Given the description of an element on the screen output the (x, y) to click on. 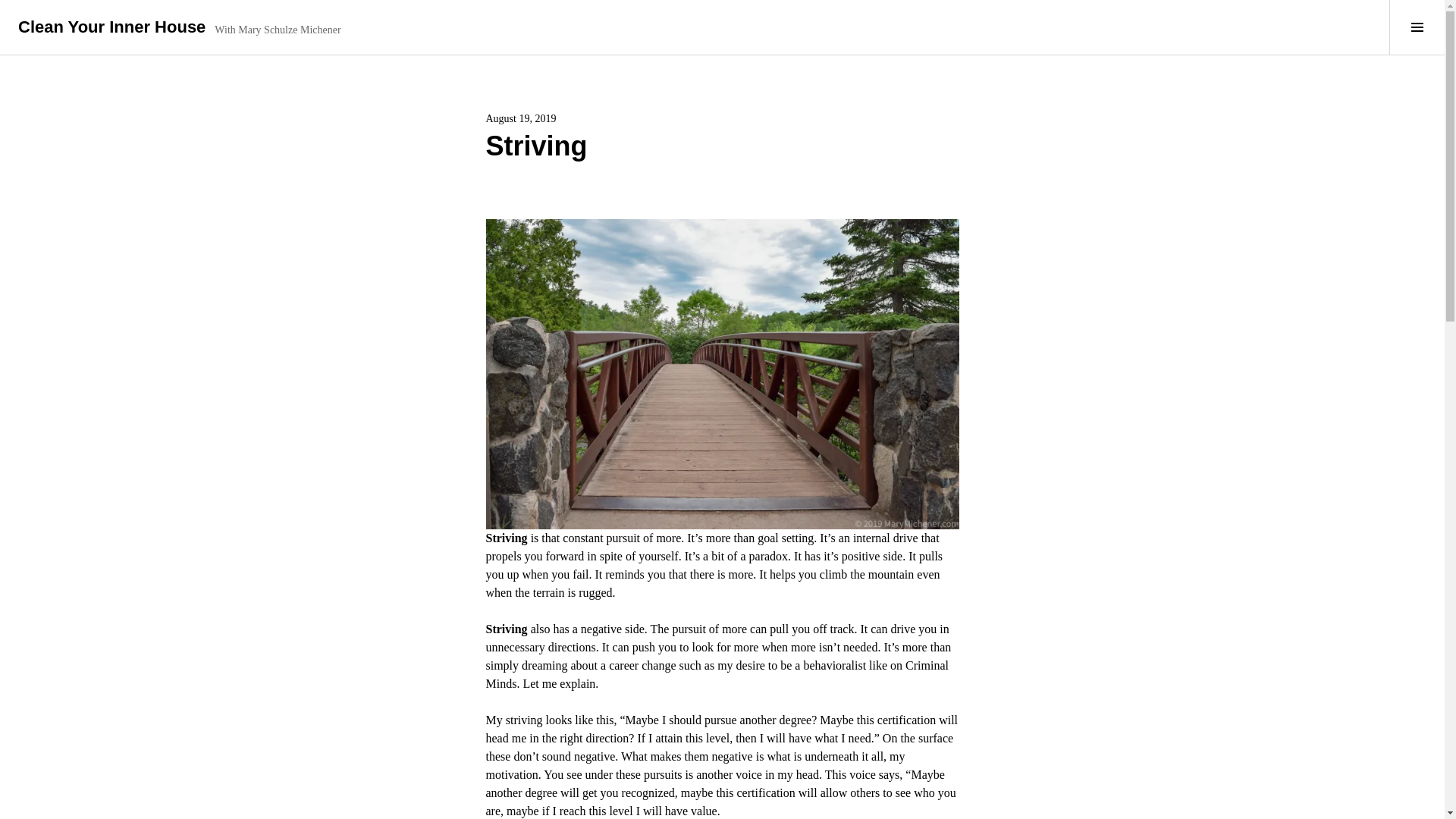
Clean Your Inner House (111, 26)
